Given the description of an element on the screen output the (x, y) to click on. 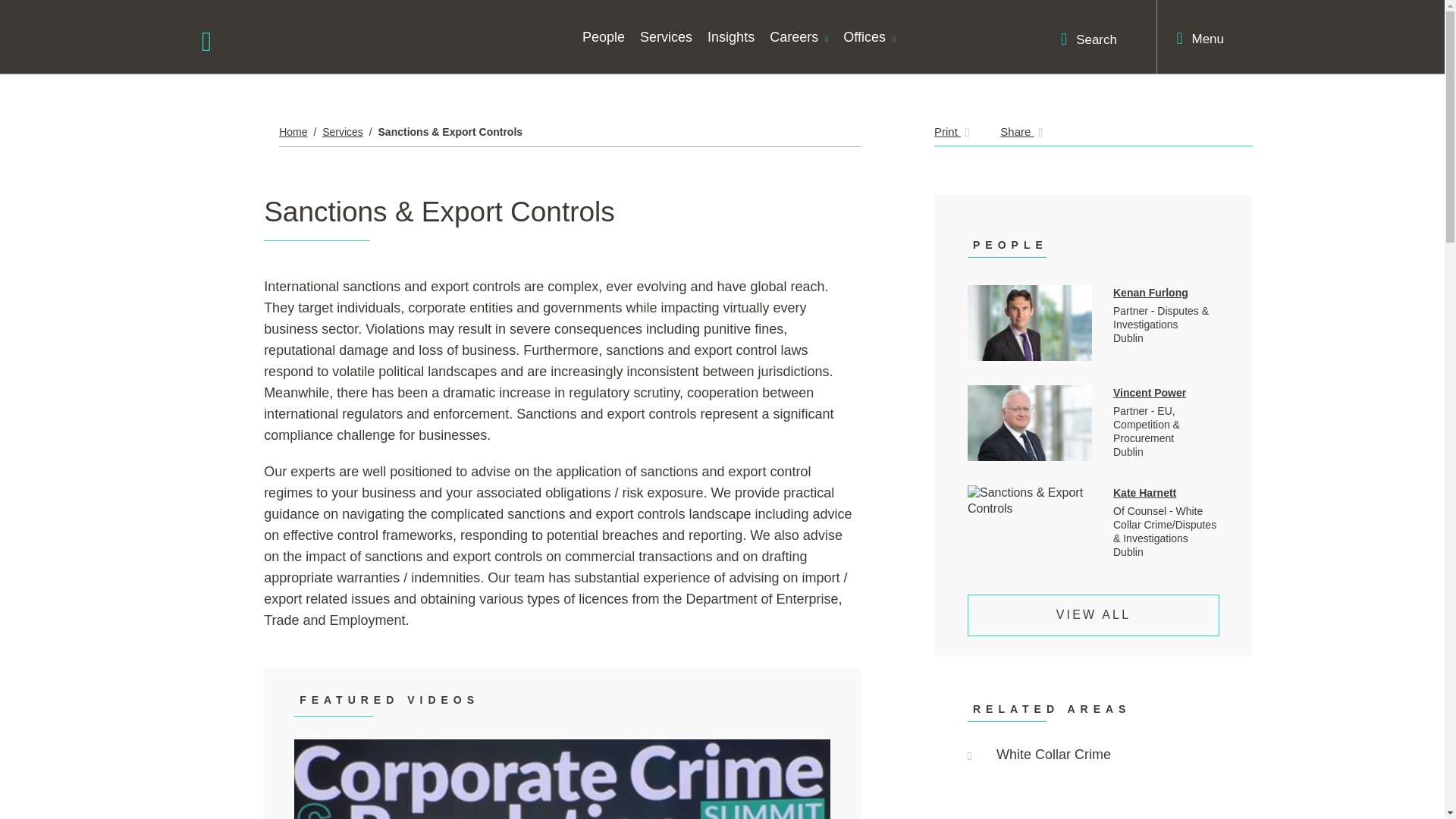
People (603, 37)
Careers (799, 37)
Services (666, 37)
Insights (730, 37)
Search (1088, 39)
Menu (1200, 38)
Offices (869, 37)
